Given the description of an element on the screen output the (x, y) to click on. 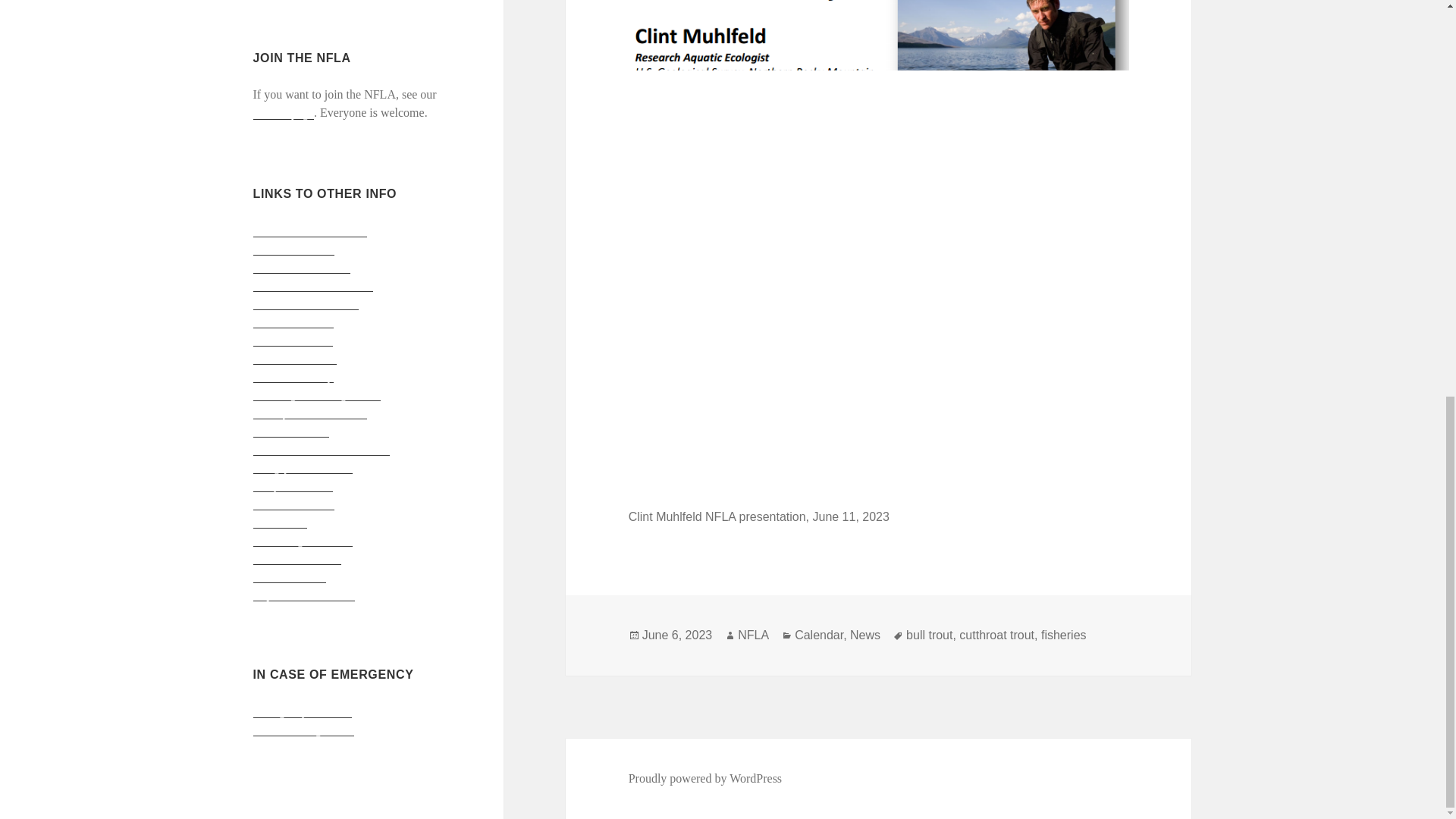
Gov. Greg Gianforte (303, 540)
Flathead County (293, 376)
Hungry Horse News (303, 467)
NF Trails Assoc. (293, 248)
North Fork Weather (301, 266)
contact page (283, 112)
County Commissioners (310, 412)
Flathead Basin Commission (321, 448)
NF Preservation Assoc. (310, 230)
State of Montana (294, 357)
Flathead National Forest (312, 284)
Sen. Steve Daines (296, 558)
Glacier National Park (306, 303)
Flathead Beacon (293, 503)
Sen. Jon Tester (289, 576)
